Given the description of an element on the screen output the (x, y) to click on. 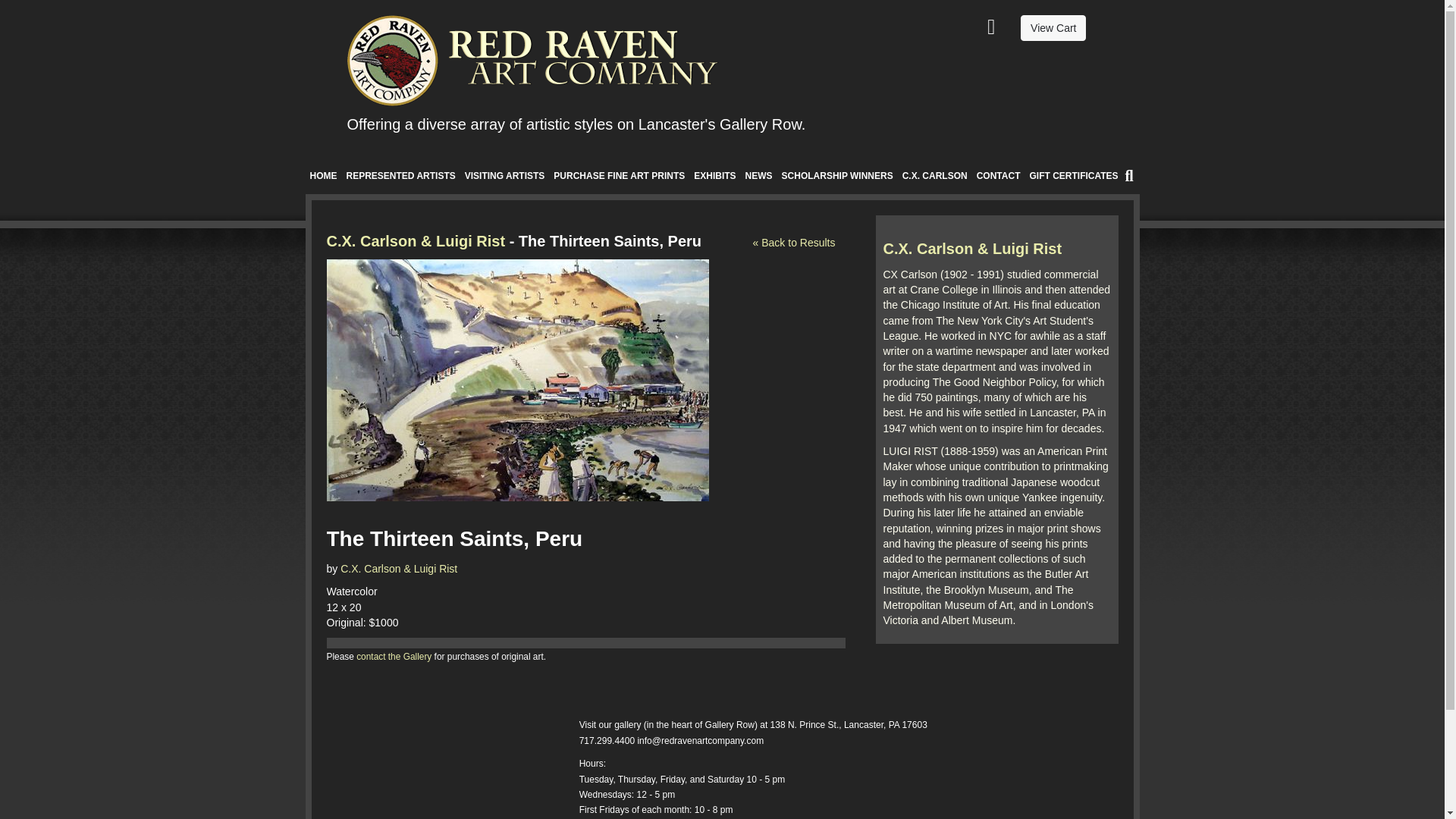
SCHOLARSHIP WINNERS (837, 176)
EXHIBITS (713, 176)
CONTACT (998, 176)
PURCHASE FINE ART PRINTS (618, 176)
contact the Gallery (393, 656)
GIFT CERTIFICATES (1073, 176)
View Cart (1053, 27)
NEWS (759, 176)
HOME (322, 176)
C.X. CARLSON (935, 176)
VISITING ARTISTS (505, 176)
REPRESENTED ARTISTS (400, 176)
View Cart (1053, 27)
